Given the description of an element on the screen output the (x, y) to click on. 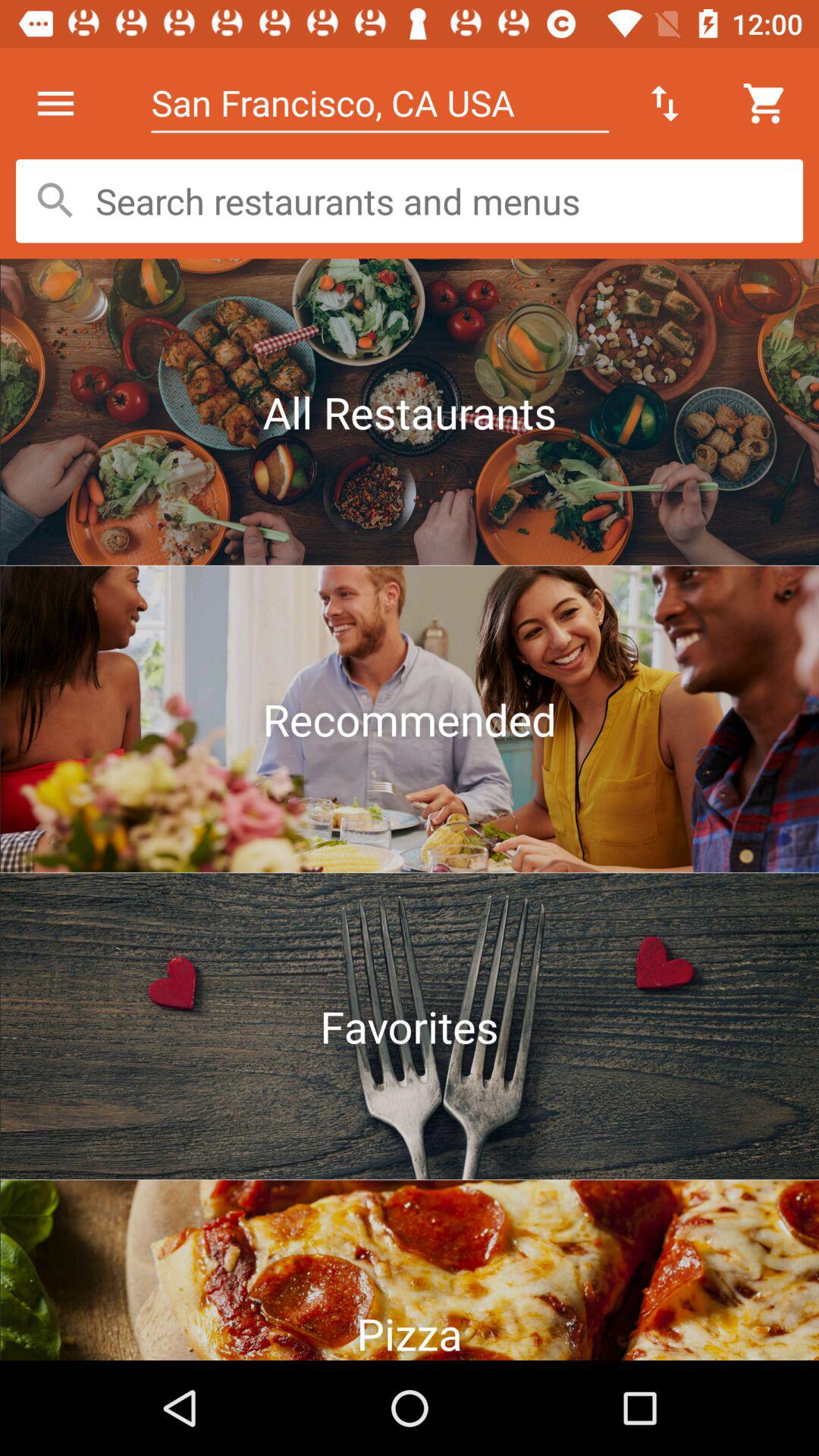
select the item at the top left corner (55, 103)
